Given the description of an element on the screen output the (x, y) to click on. 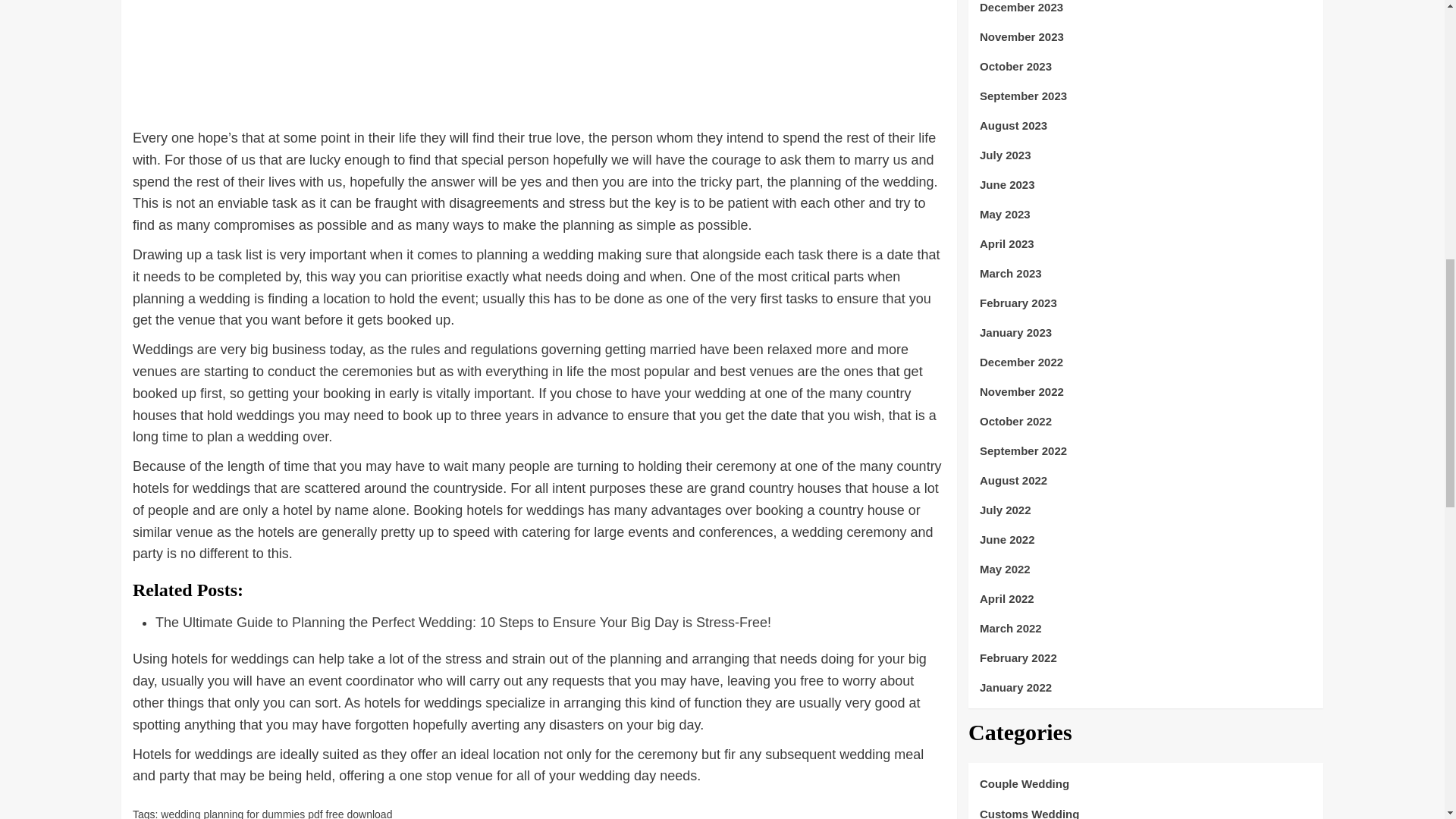
Finding A Convenient Location For Your Wedding (538, 58)
wedding planning for dummies pdf free download (275, 813)
